Given the description of an element on the screen output the (x, y) to click on. 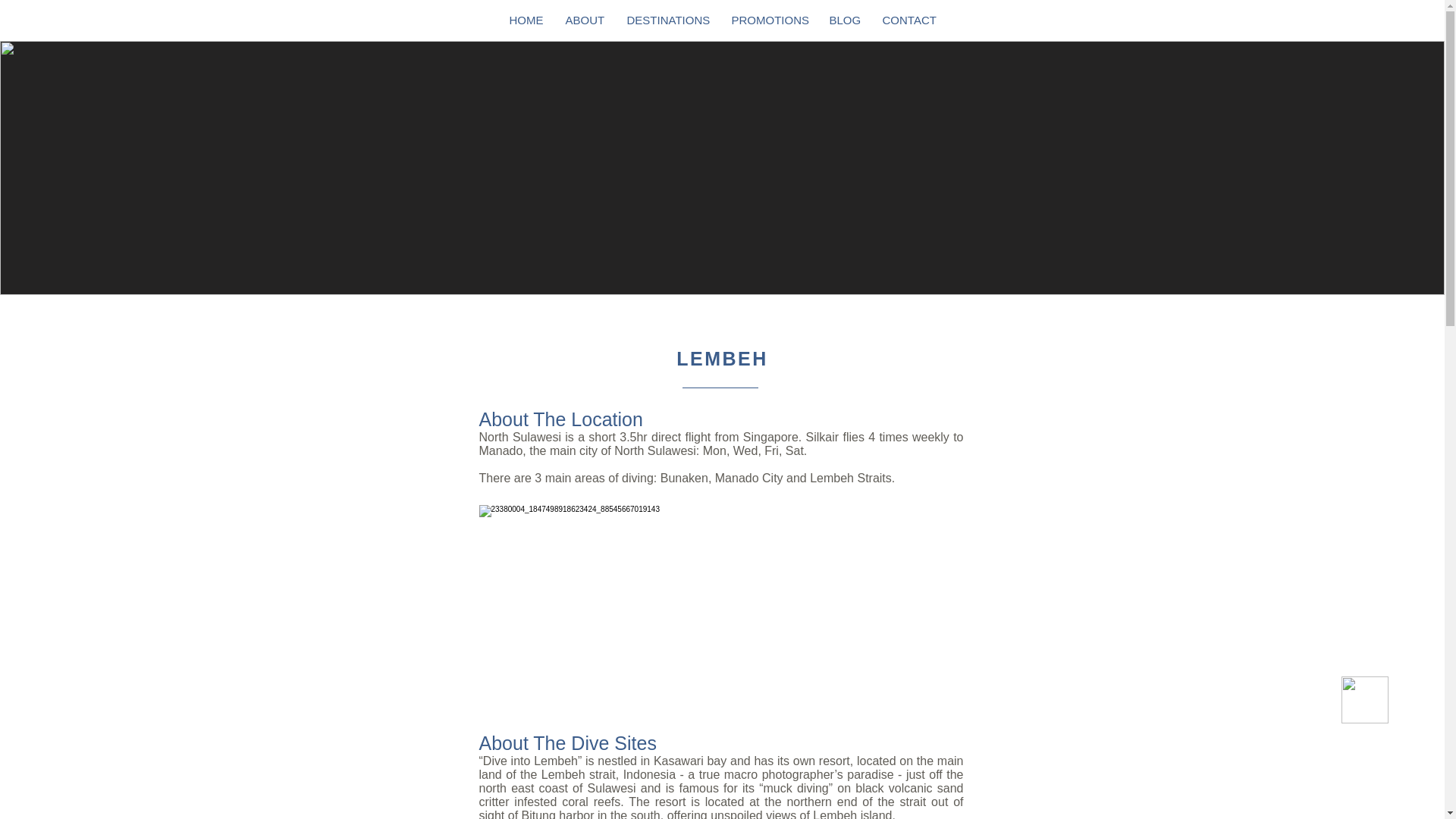
PROMOTIONS (769, 20)
ABOUT (583, 20)
BLOG (843, 20)
CONTACT (908, 20)
HOME (525, 20)
DESTINATIONS (667, 20)
